Given the description of an element on the screen output the (x, y) to click on. 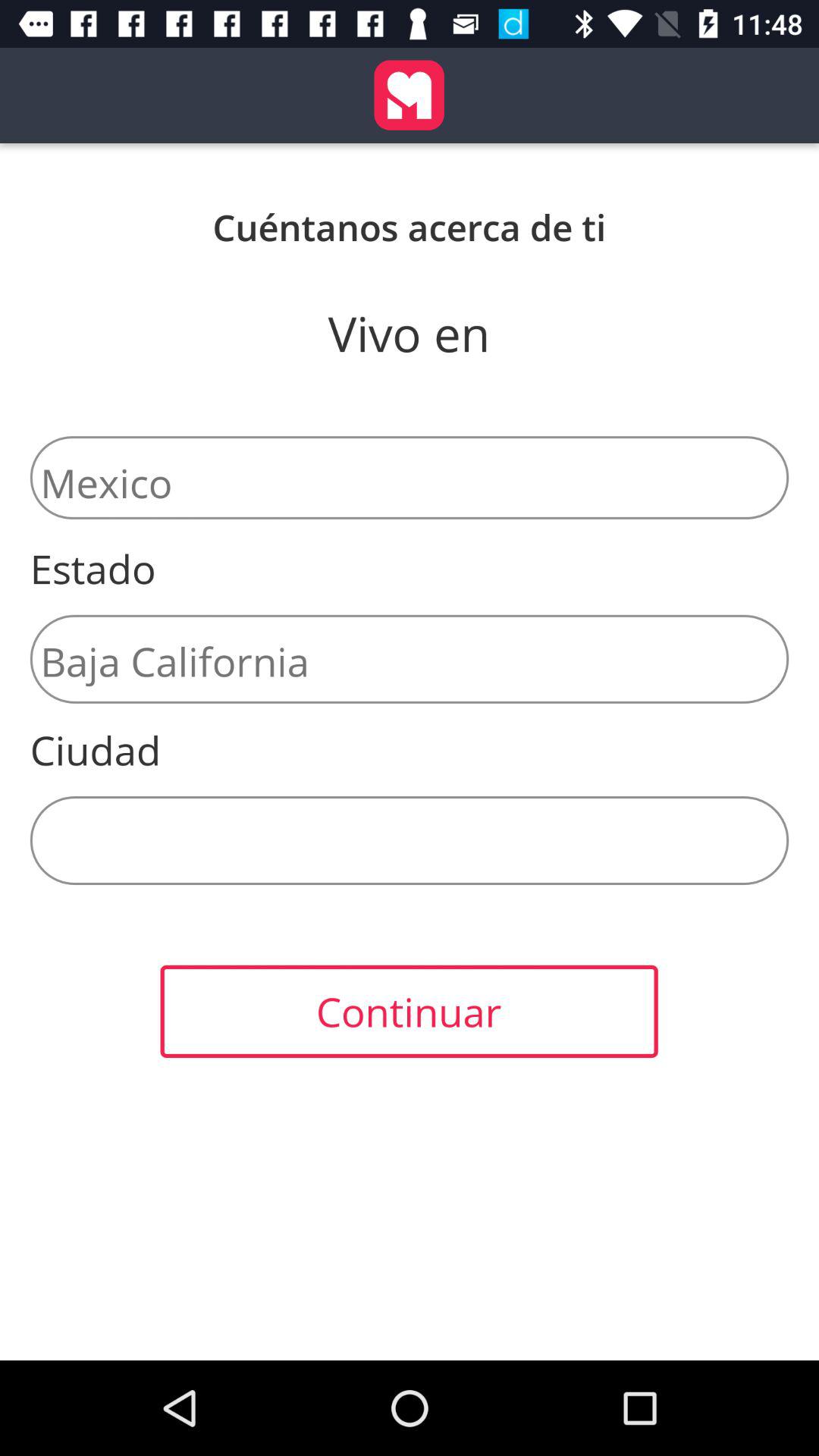
open the icon below the vivo en (409, 477)
